Given the description of an element on the screen output the (x, y) to click on. 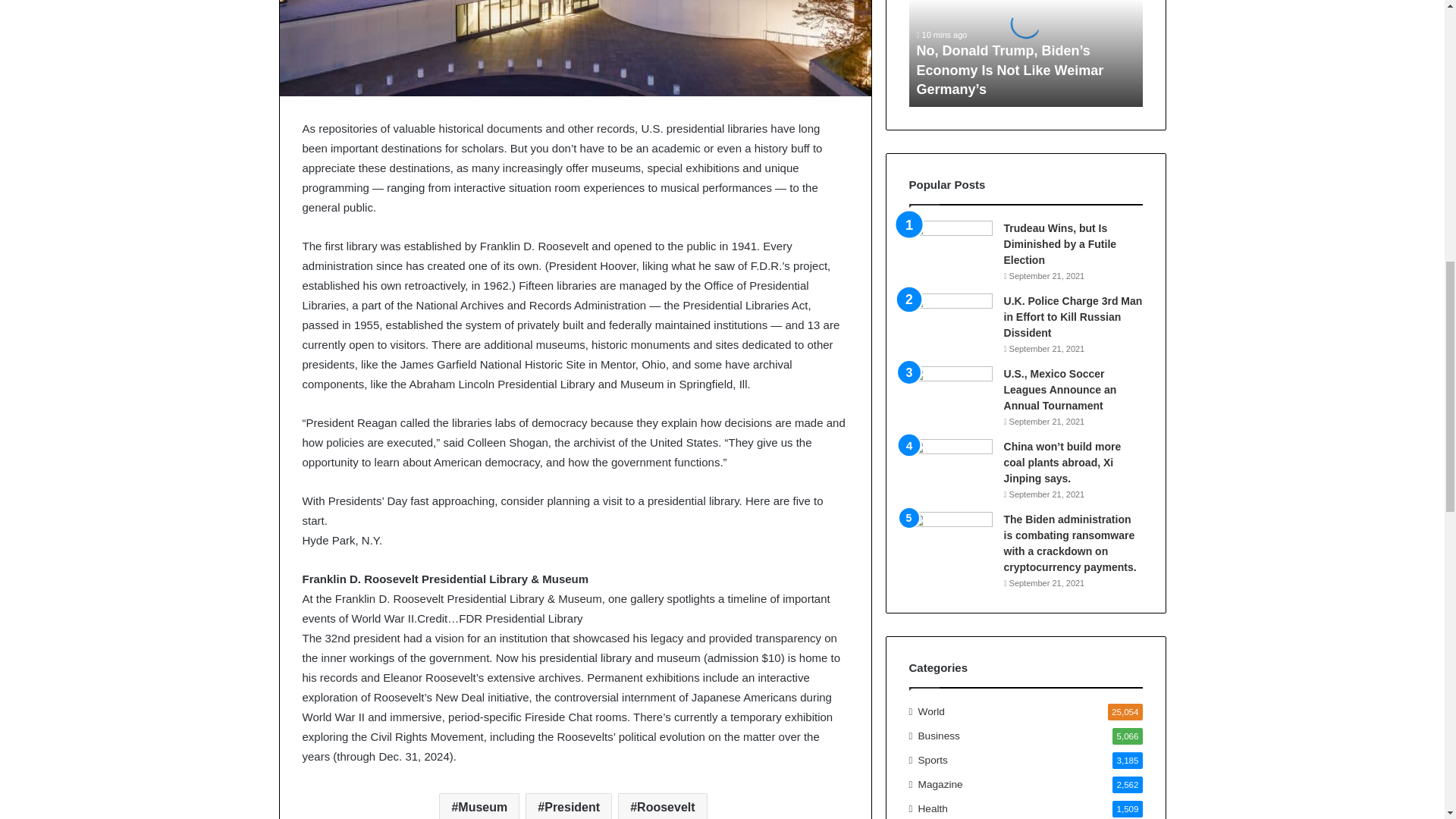
Roosevelt (661, 806)
Museum (479, 806)
President (568, 806)
